Given the description of an element on the screen output the (x, y) to click on. 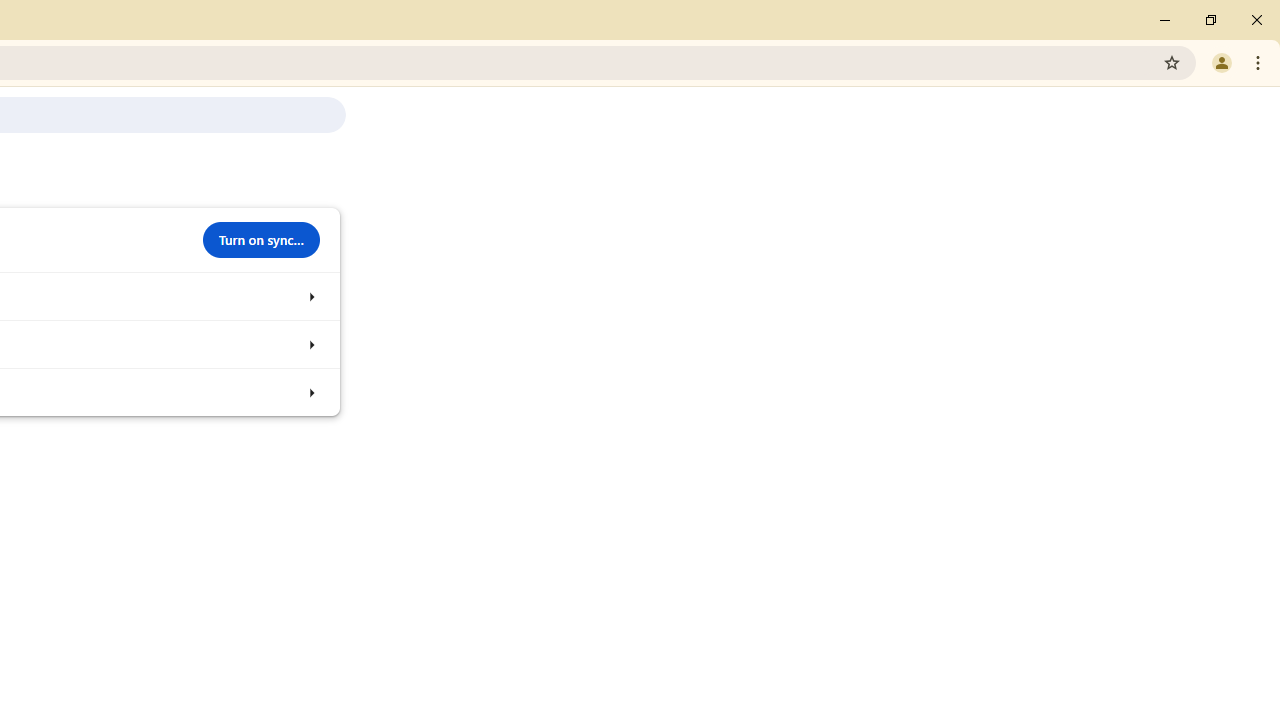
Customize your Chrome profile (310, 344)
Import bookmarks and settings (310, 391)
Sync and Google services (310, 296)
